Given the description of an element on the screen output the (x, y) to click on. 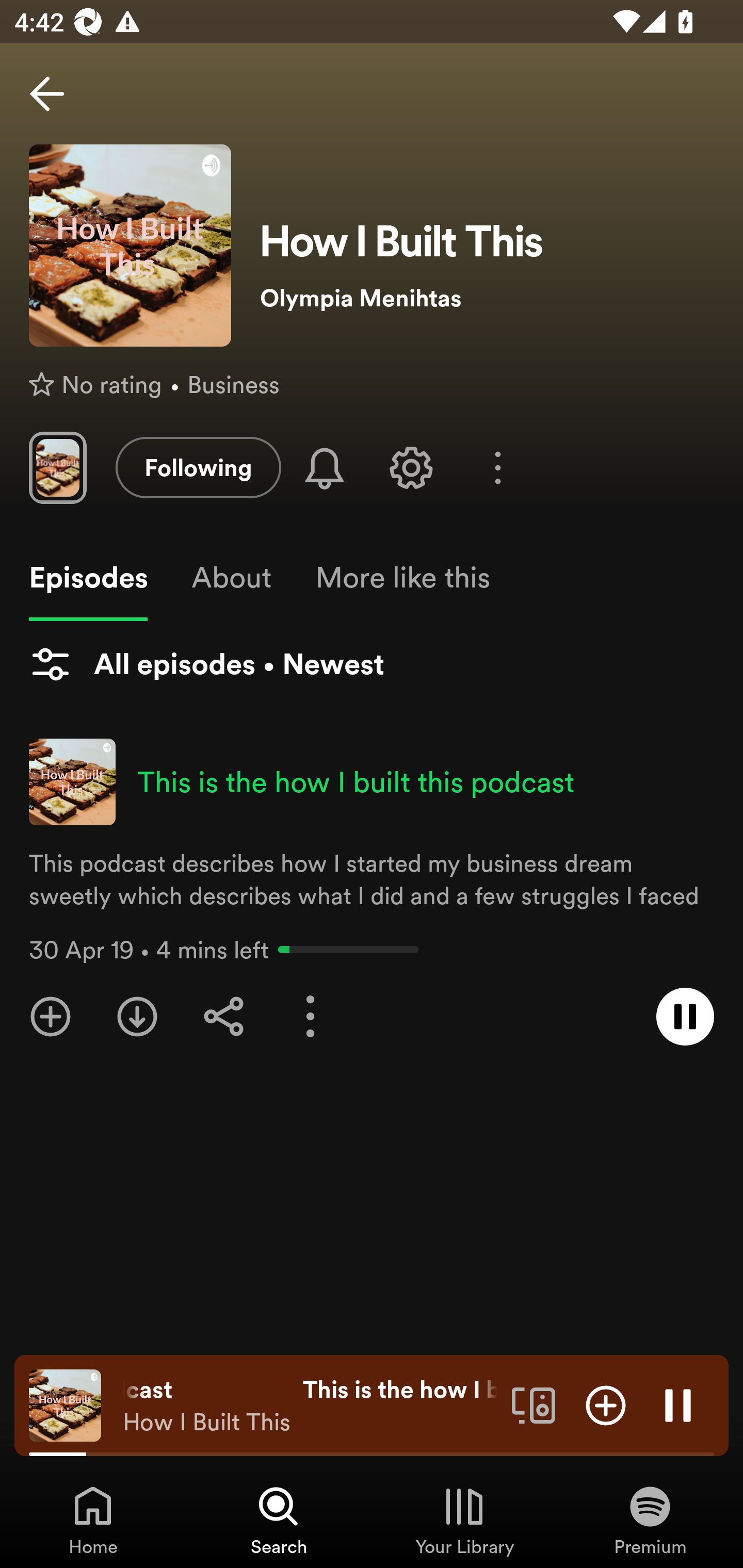
Back (46, 93)
Olympia Menihtas (487, 297)
Following Unfollow this show (197, 466)
Settings for this Show. (410, 467)
More options for show How I Built This  (497, 467)
About (231, 577)
More like this (402, 577)
All episodes • Newest (206, 663)
Share (223, 1016)
The cover art of the currently playing track (64, 1404)
Connect to a device. Opens the devices menu (533, 1404)
Add item (605, 1404)
Pause (677, 1404)
Home, Tab 1 of 4 Home Home (92, 1519)
Search, Tab 2 of 4 Search Search (278, 1519)
Your Library, Tab 3 of 4 Your Library Your Library (464, 1519)
Premium, Tab 4 of 4 Premium Premium (650, 1519)
